Given the description of an element on the screen output the (x, y) to click on. 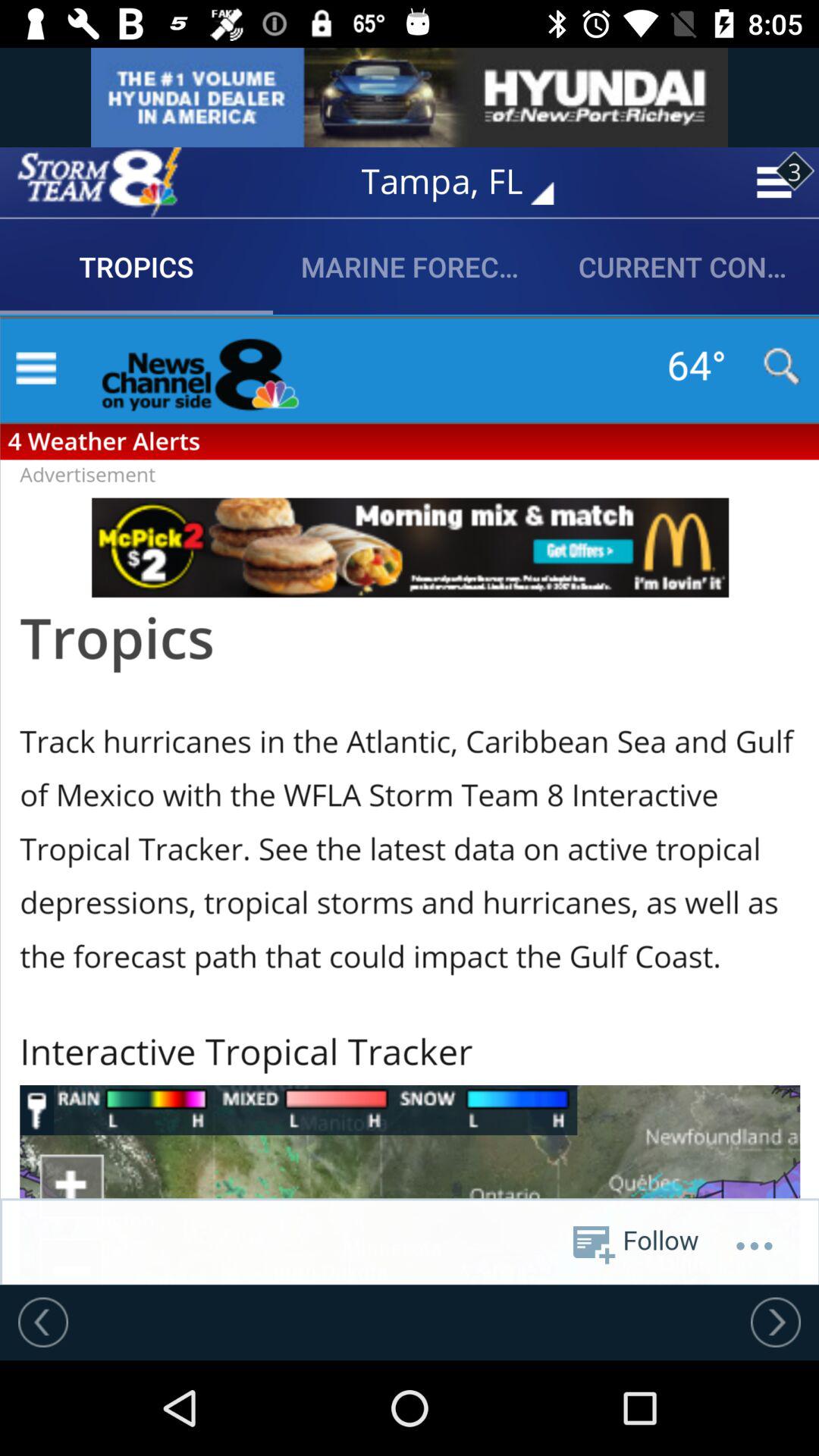
add the option (99, 182)
